Given the description of an element on the screen output the (x, y) to click on. 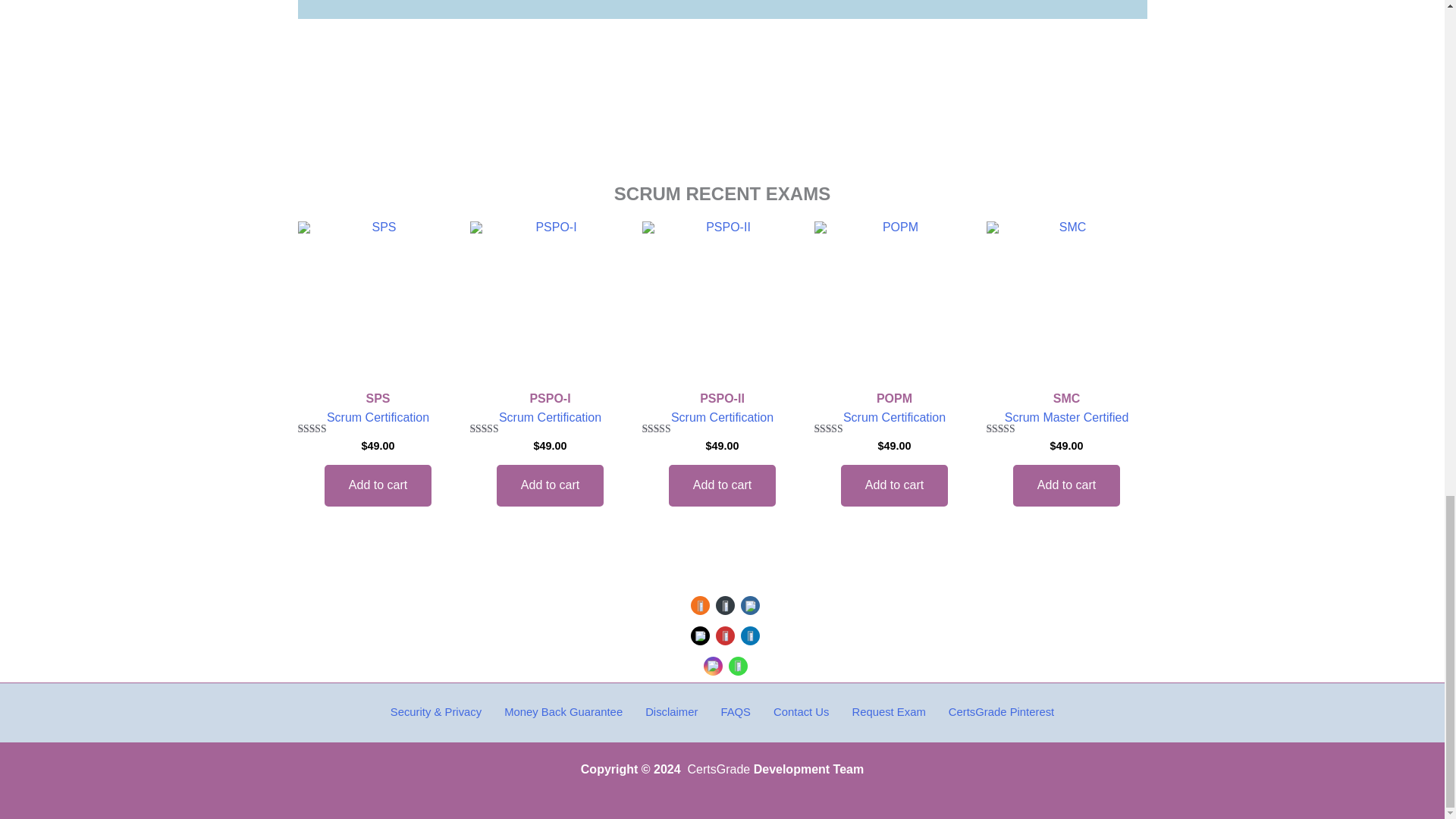
Twitter (700, 635)
Facebook (750, 605)
Professional Scrum Product Owner II (722, 301)
Scrum Certification (377, 417)
Professional Scrum Product Owner I (550, 301)
